Given the description of an element on the screen output the (x, y) to click on. 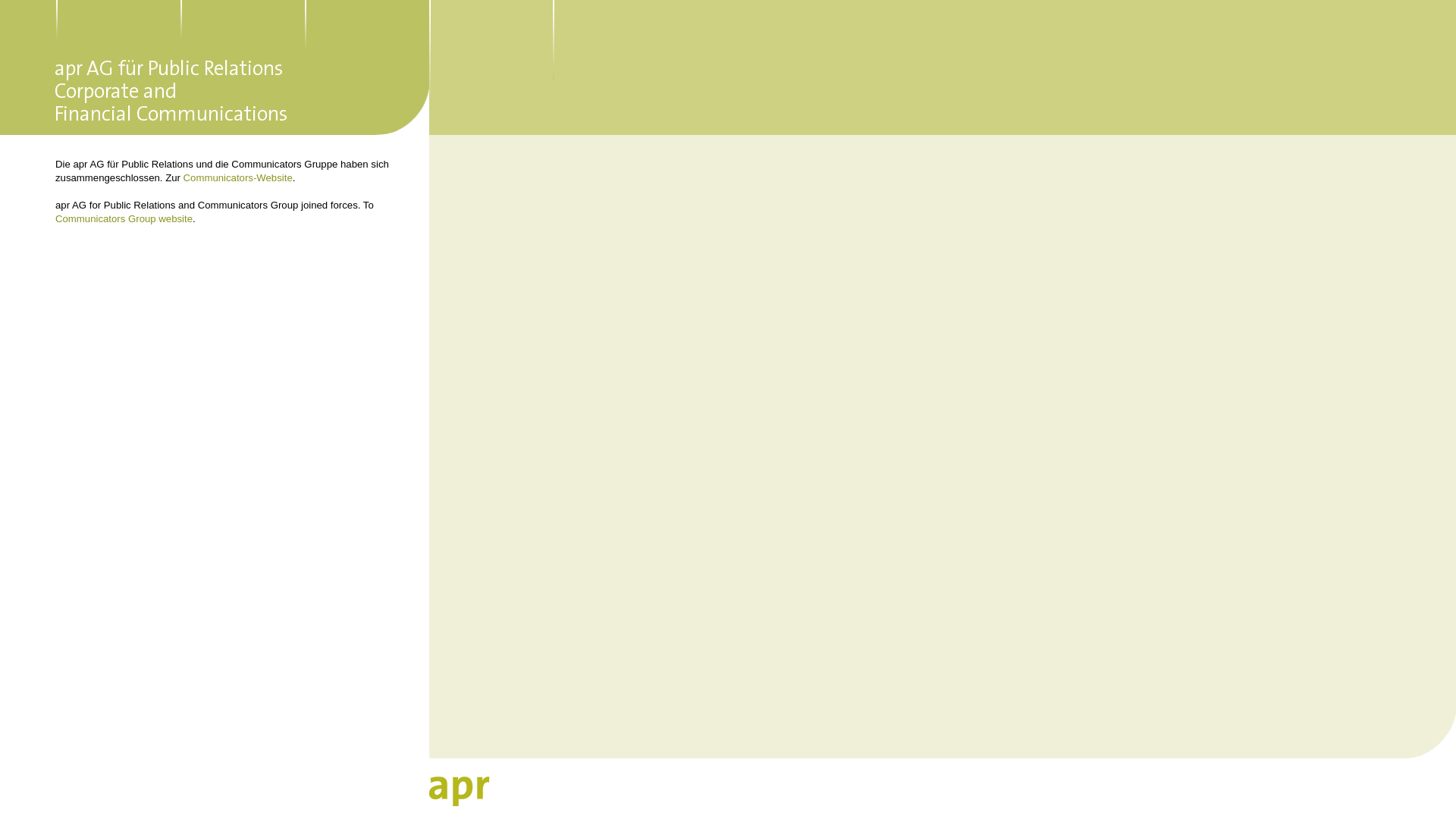
Communicators-Website Element type: text (237, 177)
Communicators Group website Element type: text (123, 218)
